Given the description of an element on the screen output the (x, y) to click on. 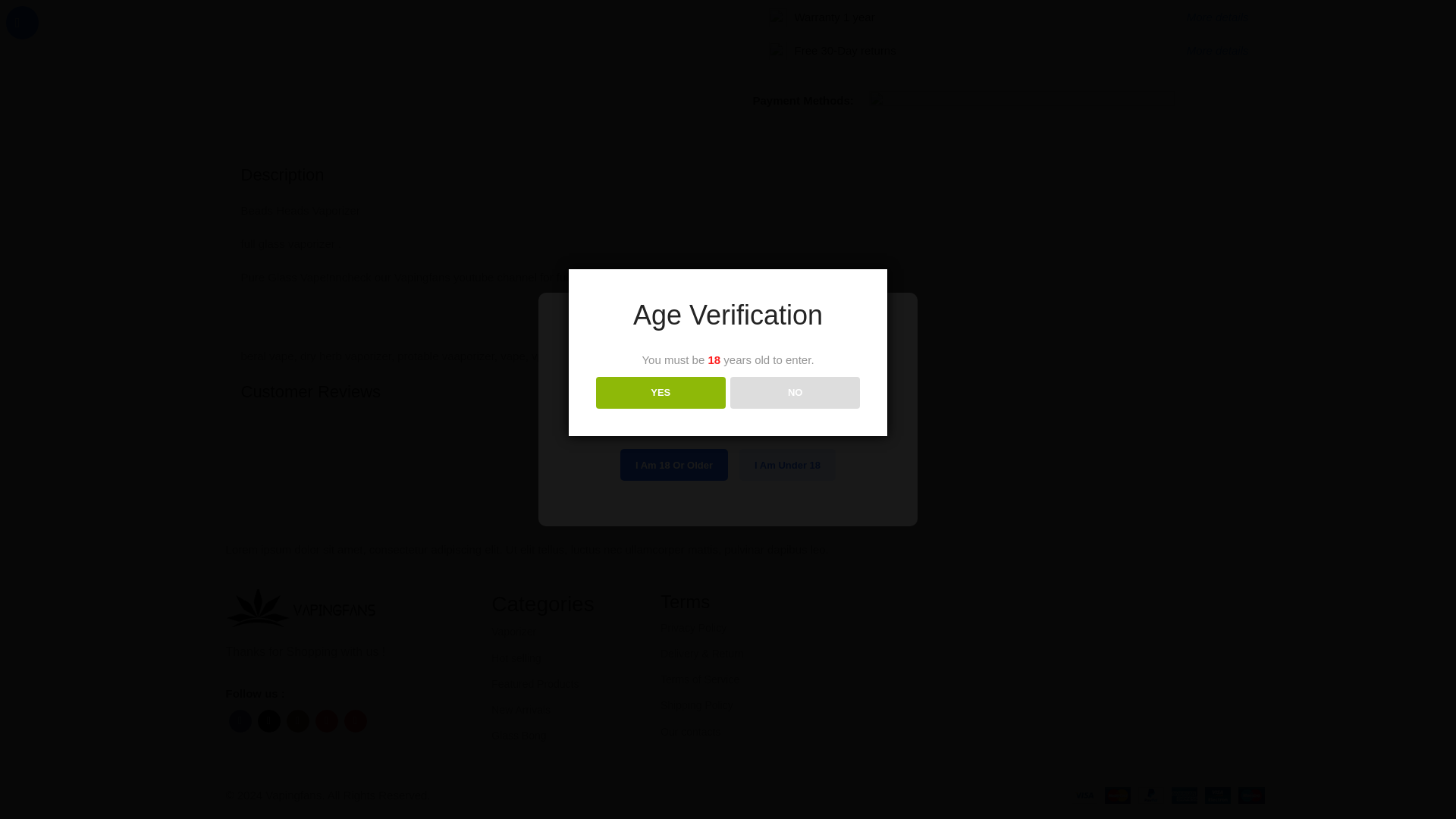
return (777, 50)
warranty (777, 17)
Beads Heads Vaporizer (481, 10)
